Given the description of an element on the screen output the (x, y) to click on. 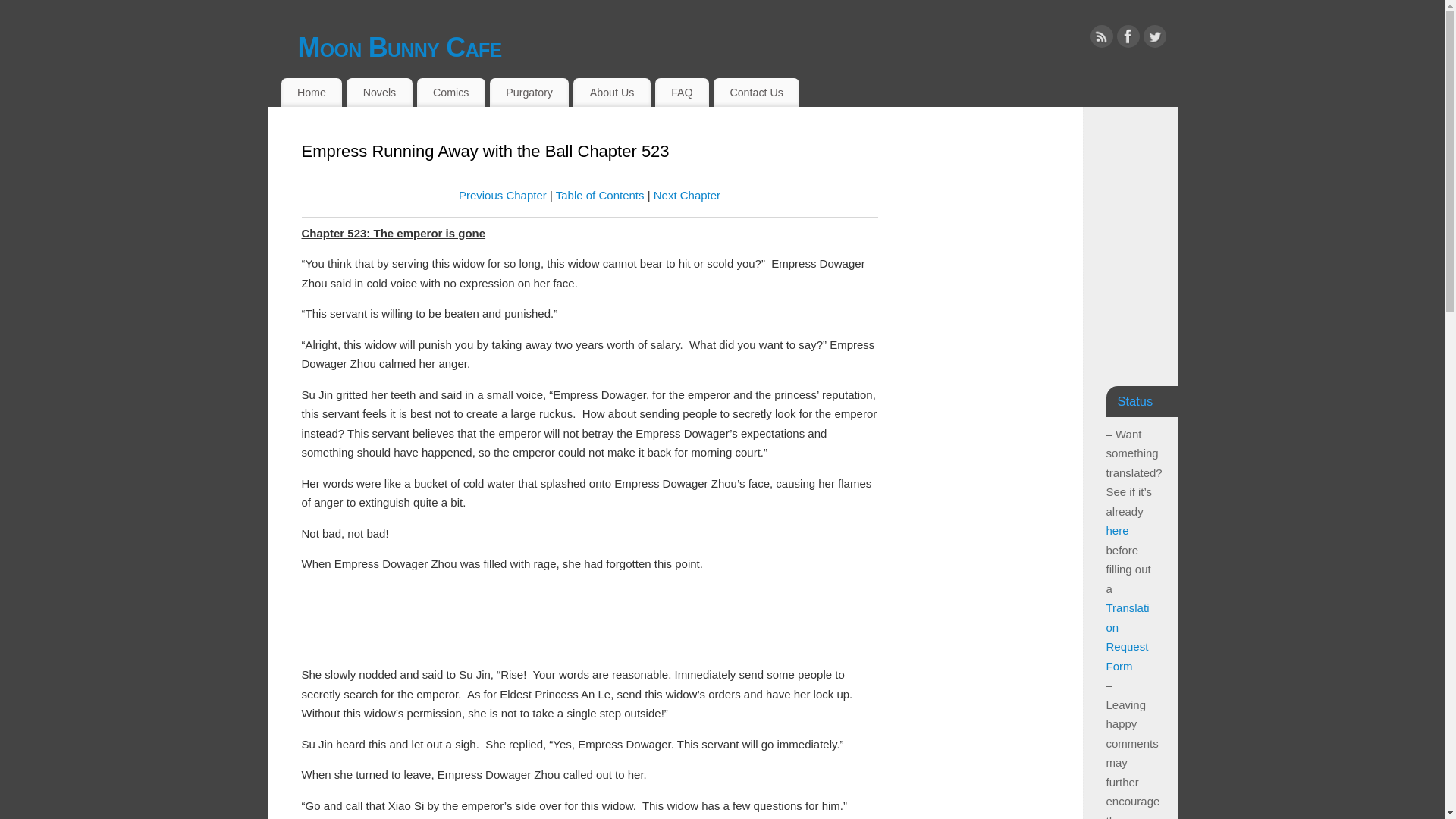
Next Chapter (686, 195)
Comics (450, 92)
Purgatory (529, 92)
Previous Chapter (502, 195)
Moon Bunny Cafe (736, 47)
Home (311, 92)
Contact Us (756, 92)
Table of Contents (600, 195)
FAQ (682, 92)
Moon Bunny Cafe (736, 47)
here (1116, 530)
Novels (379, 92)
About Us (611, 92)
